Given the description of an element on the screen output the (x, y) to click on. 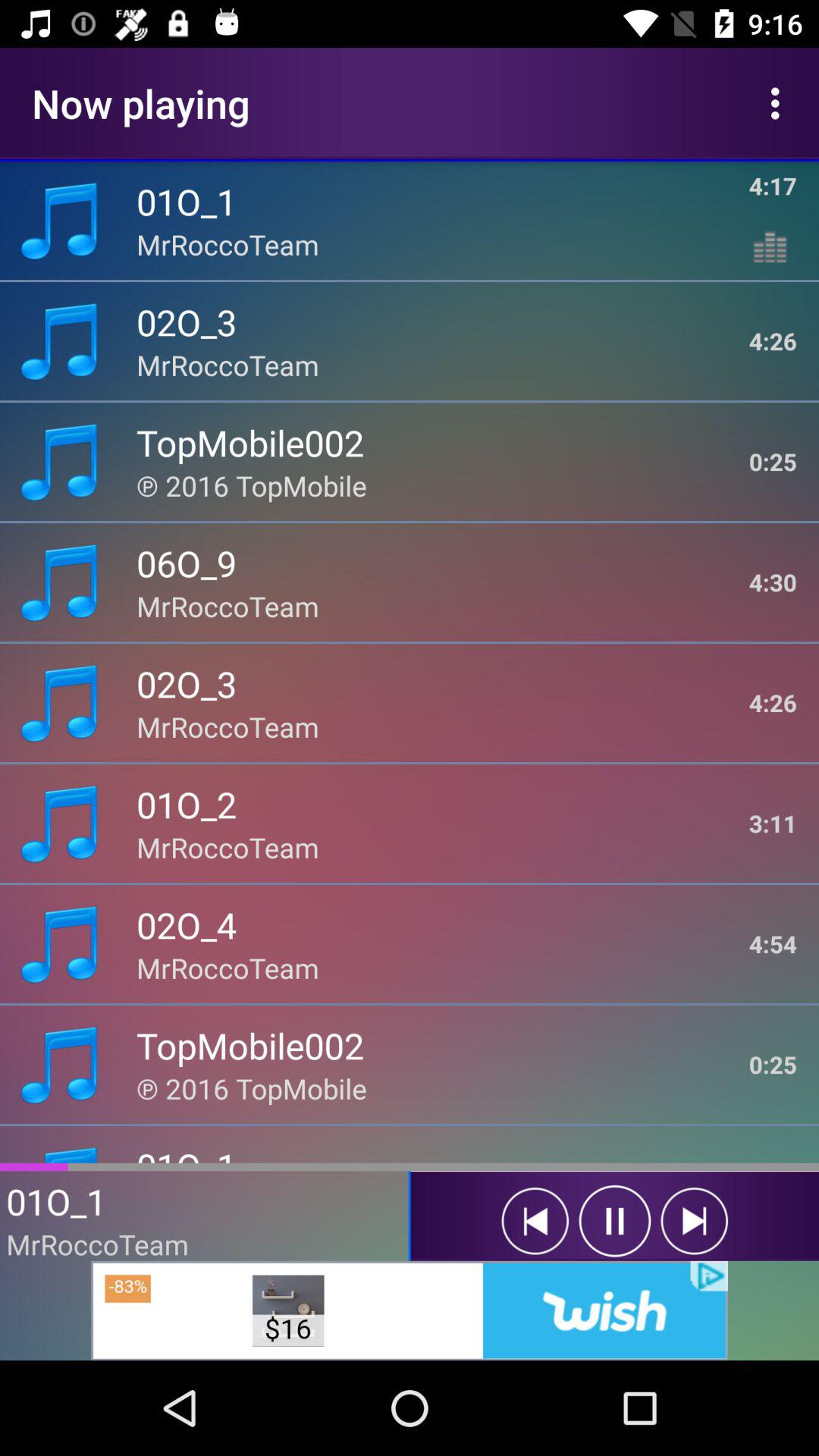
next track (694, 1220)
